Given the description of an element on the screen output the (x, y) to click on. 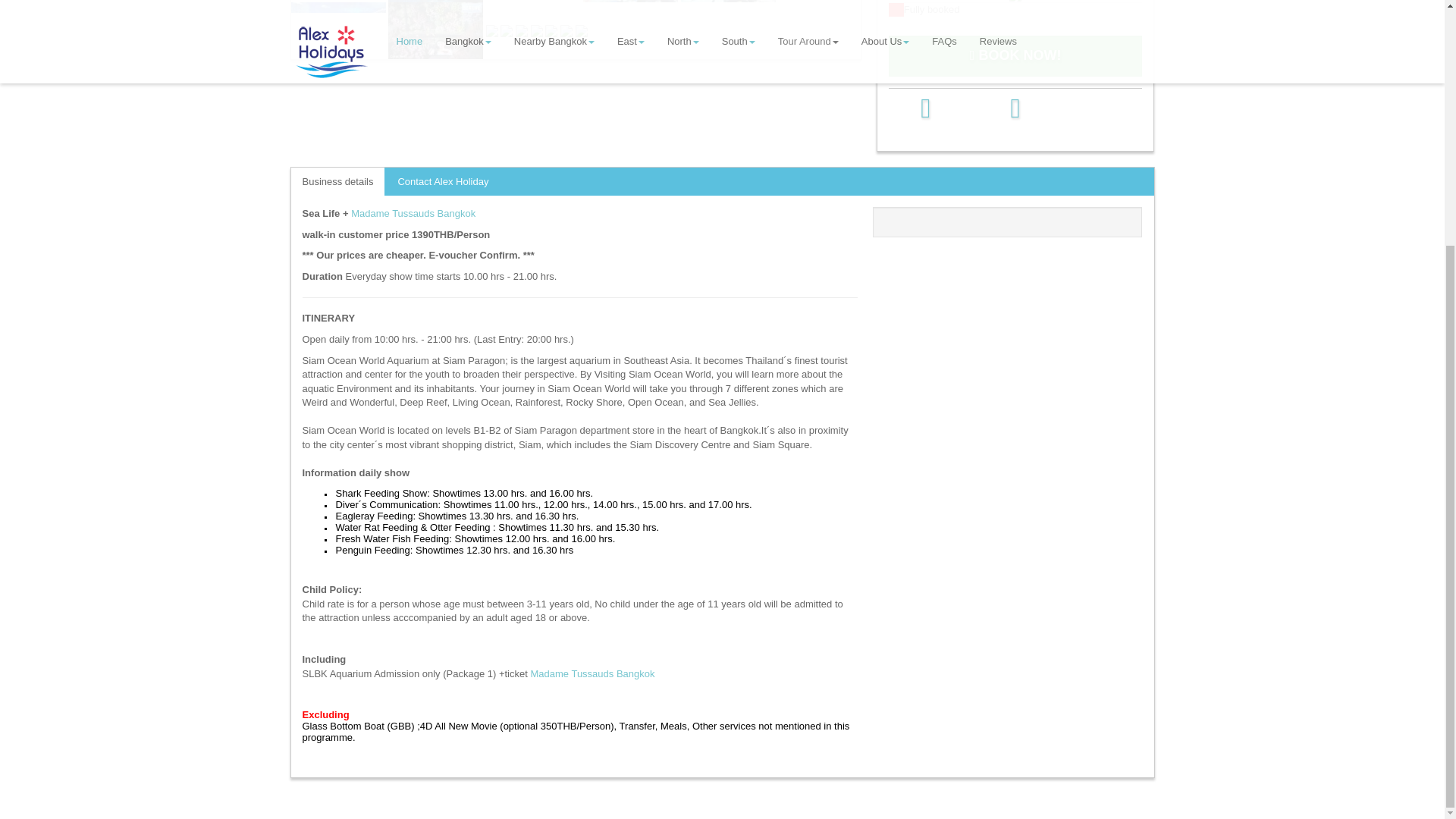
Legend (1015, 9)
